Given the description of an element on the screen output the (x, y) to click on. 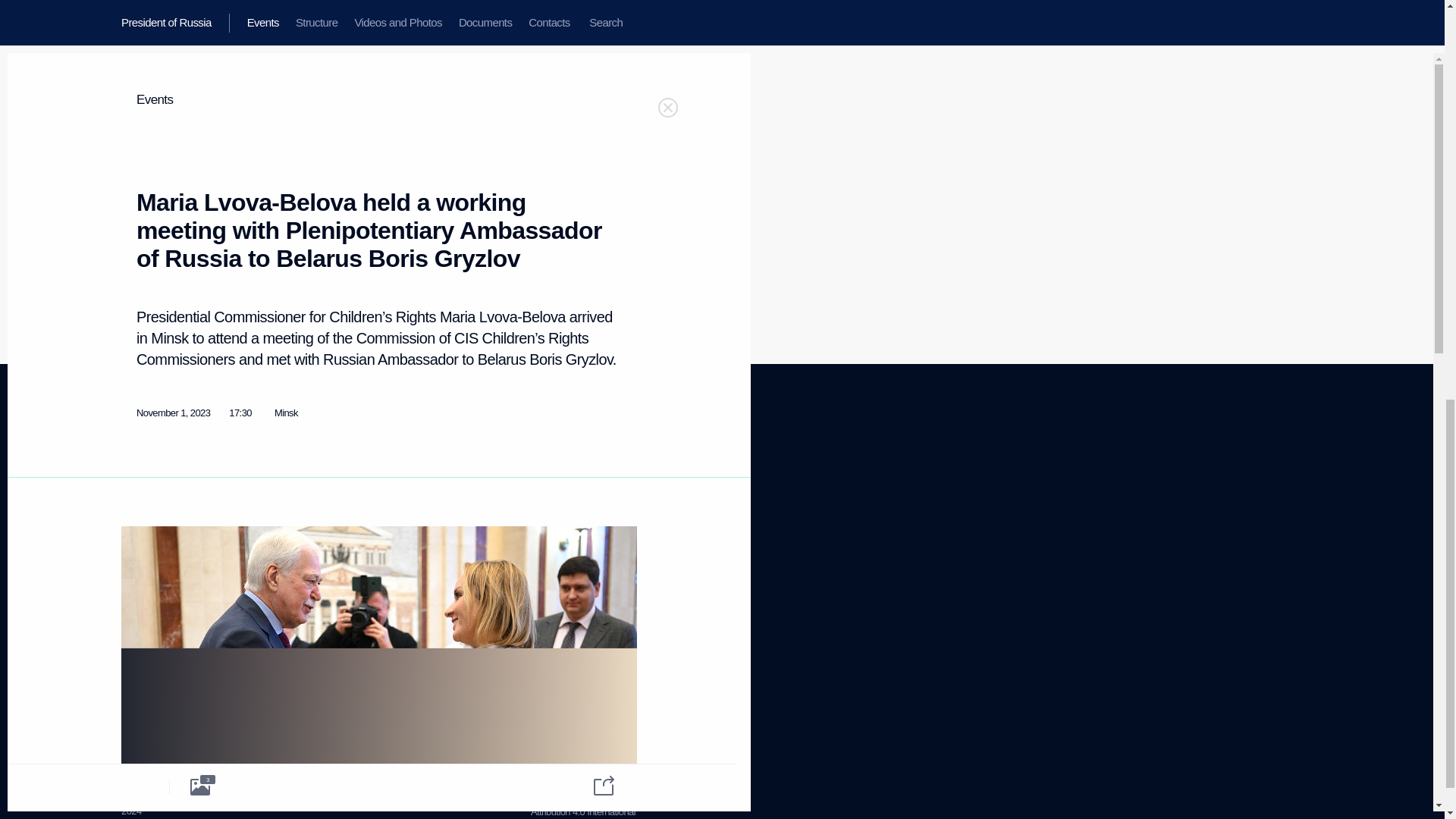
The Constitution of Russia (309, 512)
Boris Gryzlov (211, 363)
Contacts (138, 556)
Events (134, 480)
Version for People with Disabilities (165, 708)
Subscribe (140, 646)
Send a Letter (284, 550)
State Insignia (284, 531)
Creative Commons Attribution 4.0 International (582, 805)
Structure (138, 500)
Maria Lvova-Belova (258, 281)
For the Media (148, 611)
Search (134, 575)
Directory (138, 665)
Documents (143, 537)
